Given the description of an element on the screen output the (x, y) to click on. 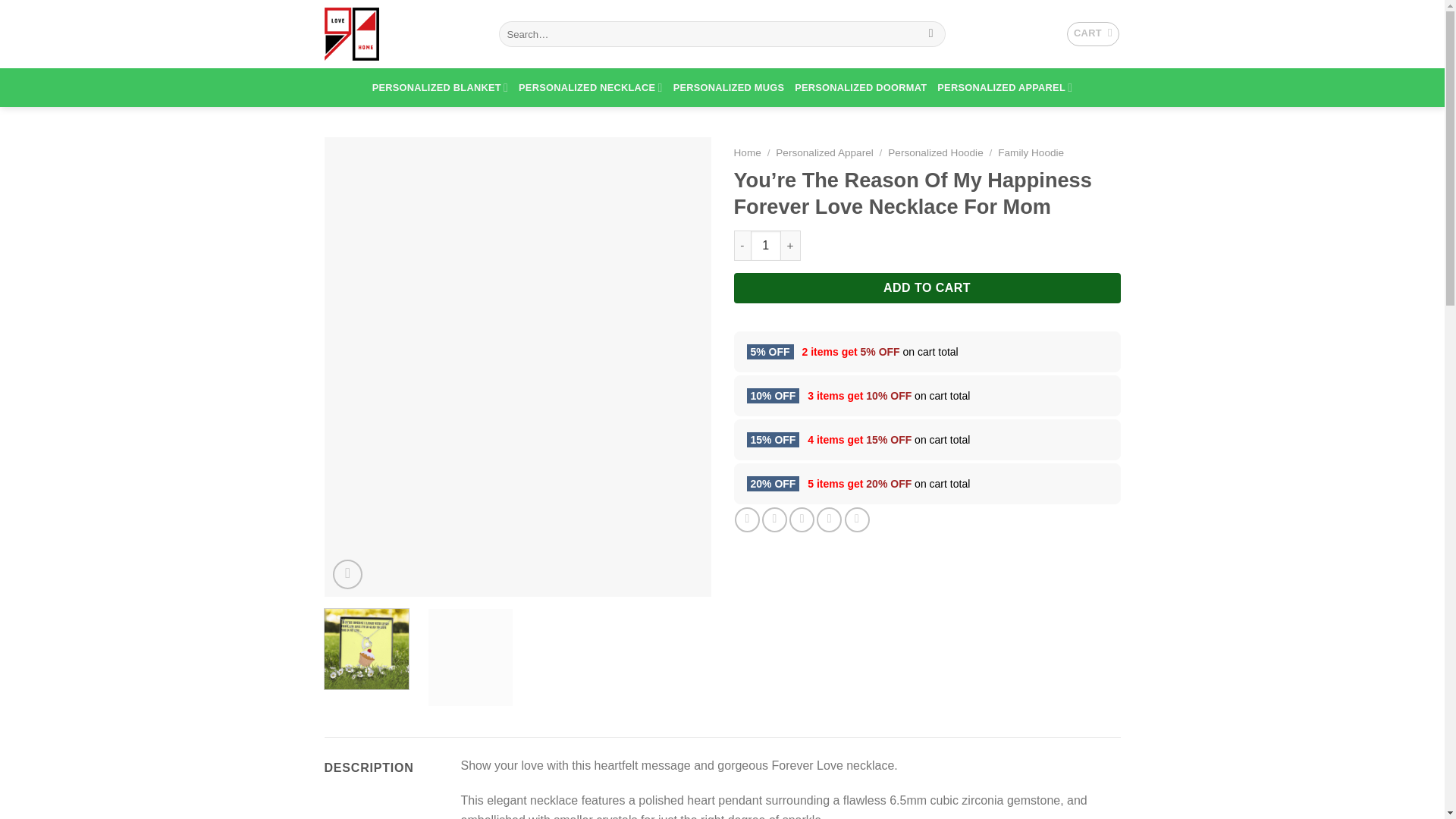
Home (747, 152)
Search (930, 33)
Personalized Apparel (824, 152)
CART (1093, 33)
Personalized Blanket (440, 87)
PERSONALIZED APPAREL (1004, 87)
PERSONALIZED NECKLACE (590, 87)
90 LoveHome (400, 33)
Personalized Hoodie (935, 152)
PERSONALIZED BLANKET (440, 87)
1 (765, 245)
Cart (1093, 33)
PERSONALIZED MUGS (728, 87)
PERSONALIZED DOORMAT (860, 87)
